Given the description of an element on the screen output the (x, y) to click on. 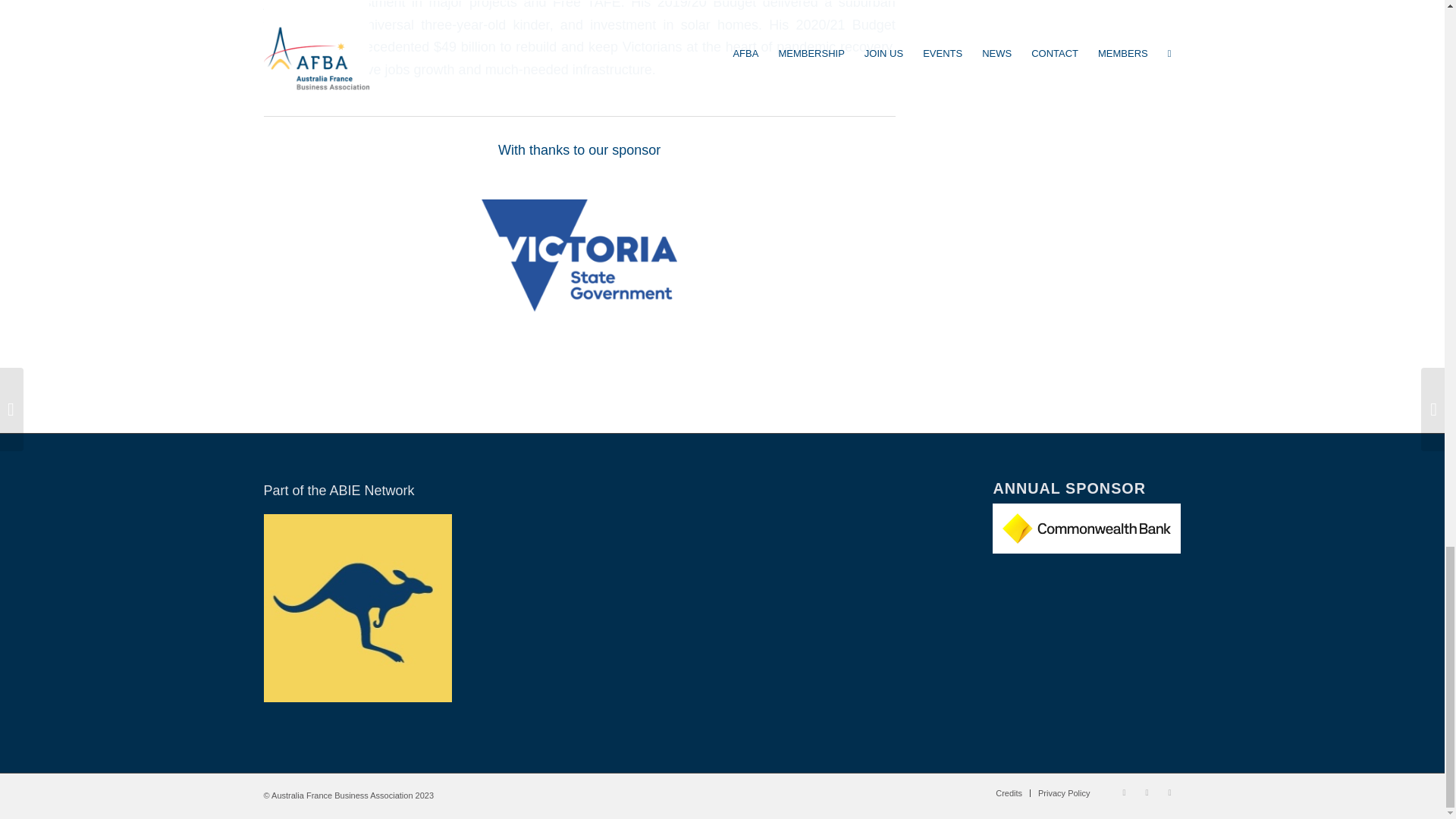
Facebook (1146, 792)
Privacy Policy (1063, 792)
Twitter (1169, 792)
Credits (1008, 792)
LinkedIn (1124, 792)
